Given the description of an element on the screen output the (x, y) to click on. 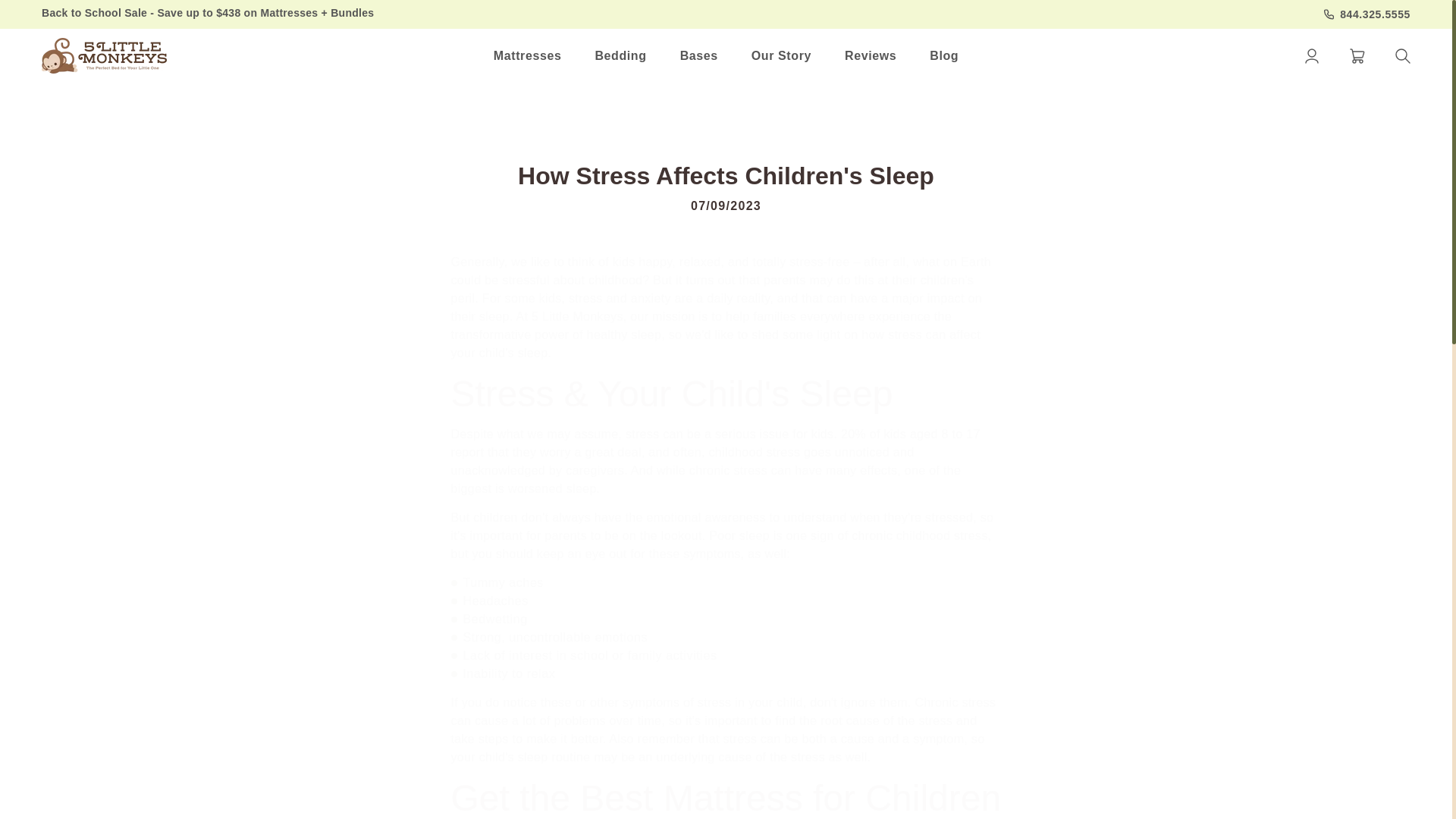
Cart (1357, 55)
Skip to content (45, 10)
Our Story (781, 55)
Reviews (870, 55)
Bedding (620, 55)
Log in (1311, 55)
Mattresses (527, 55)
844.325.5555 (1366, 13)
Blog (943, 55)
Bases (699, 55)
